Given the description of an element on the screen output the (x, y) to click on. 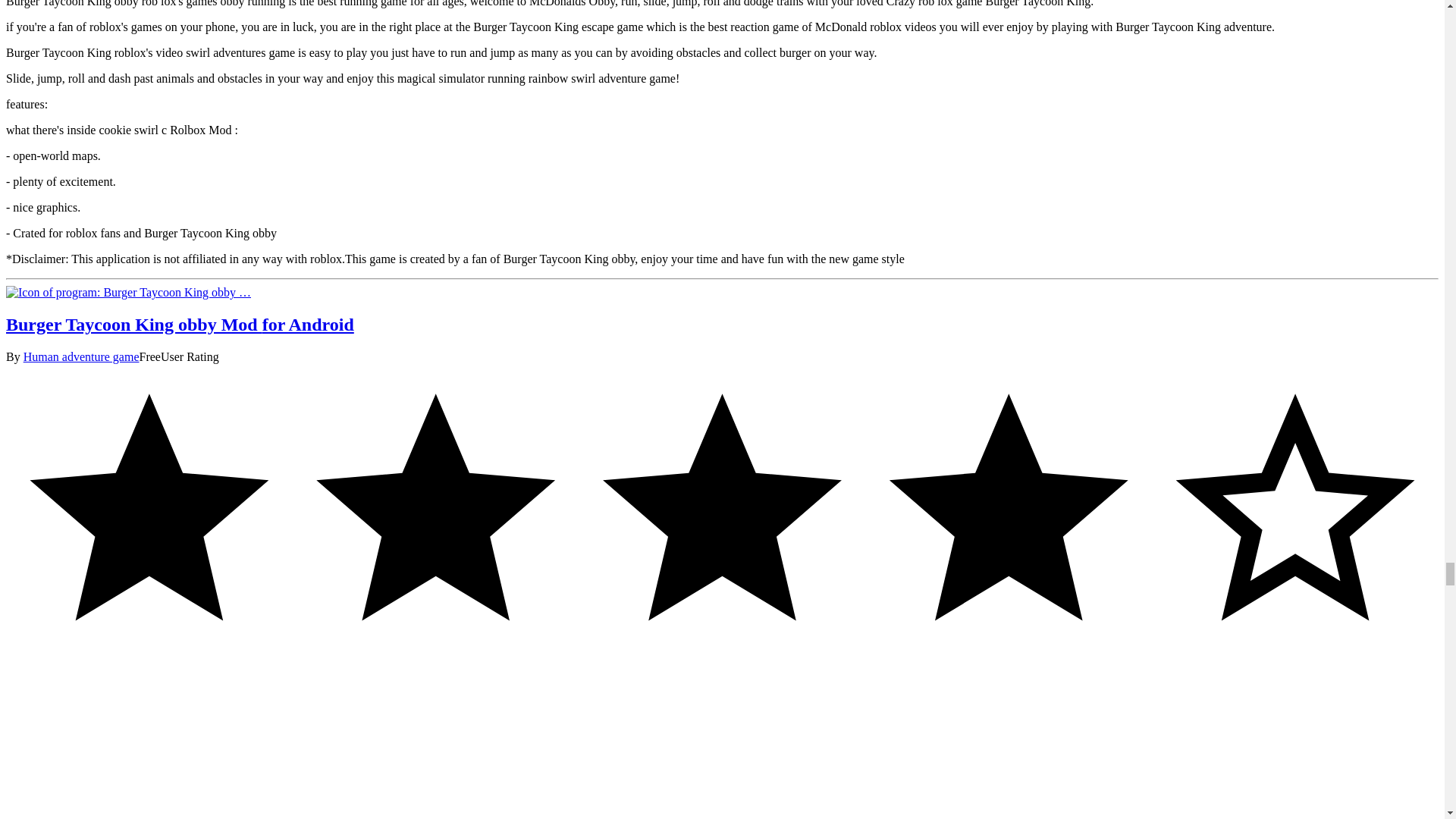
Burger Taycoon King obby Mod for Android (127, 291)
